Given the description of an element on the screen output the (x, y) to click on. 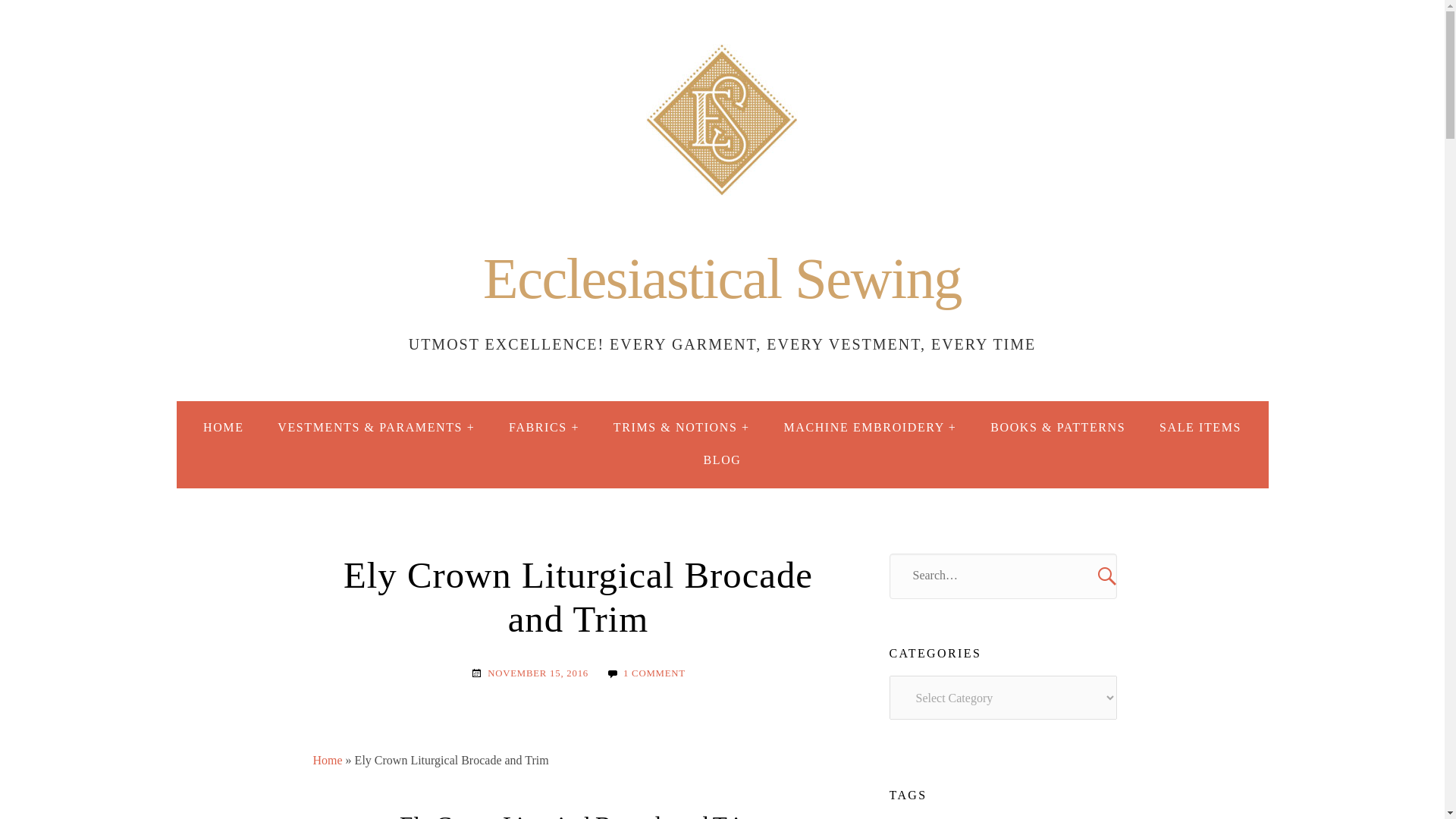
Home (721, 278)
Home (327, 759)
SALE ITEMS (1200, 427)
HOME (223, 427)
NOVEMBER 15, 2016 (537, 674)
Ecclesiastical Sewing (721, 278)
2:21 AM (537, 674)
BLOG (722, 460)
1 COMMENT (654, 674)
